Given the description of an element on the screen output the (x, y) to click on. 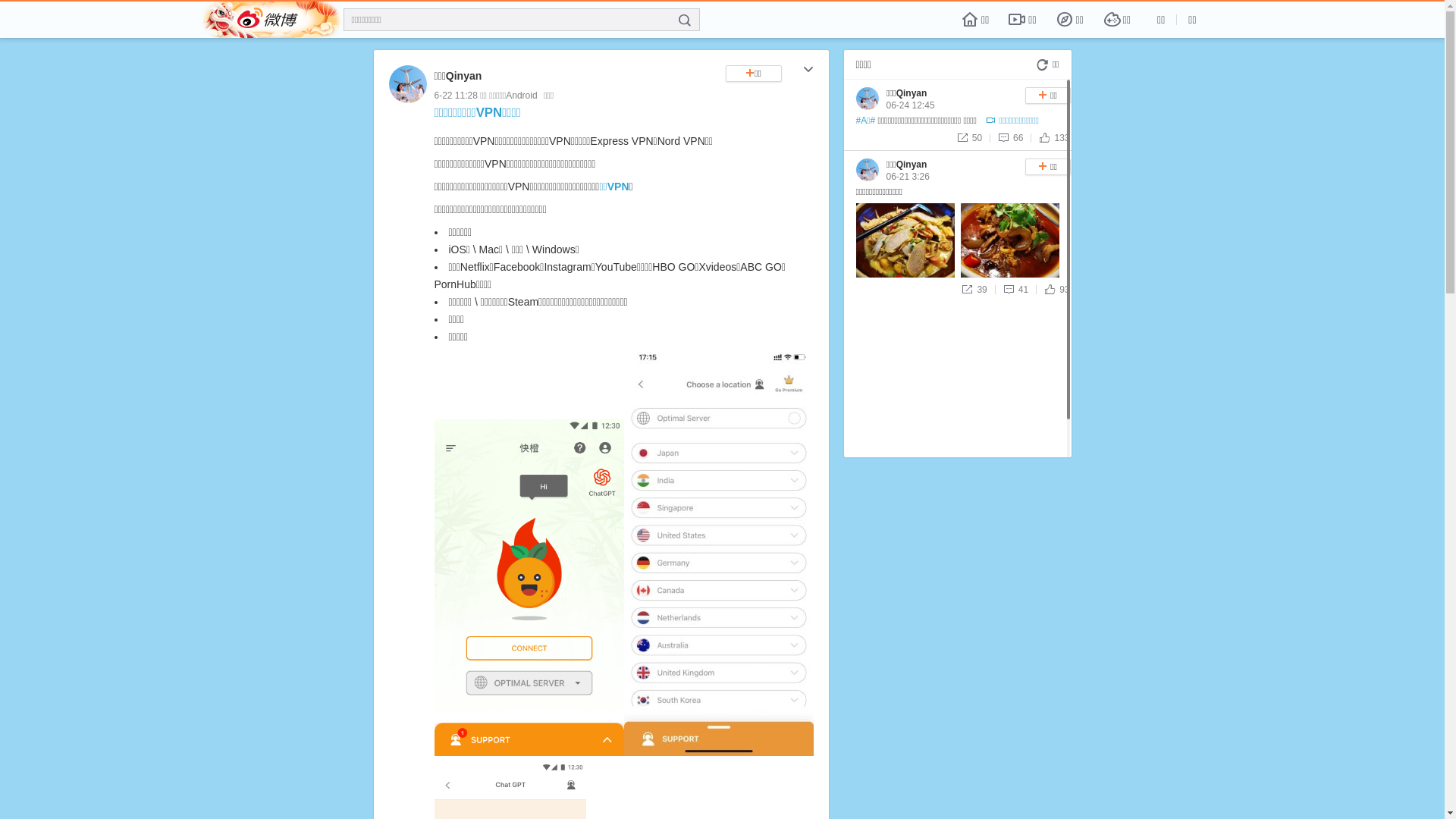
c Element type: text (808, 70)
06-24 12:45 Element type: text (909, 105)
06-21 3:26 Element type: text (906, 176)
6-22 11:28 Element type: text (454, 95)
f Element type: text (684, 20)
